Given the description of an element on the screen output the (x, y) to click on. 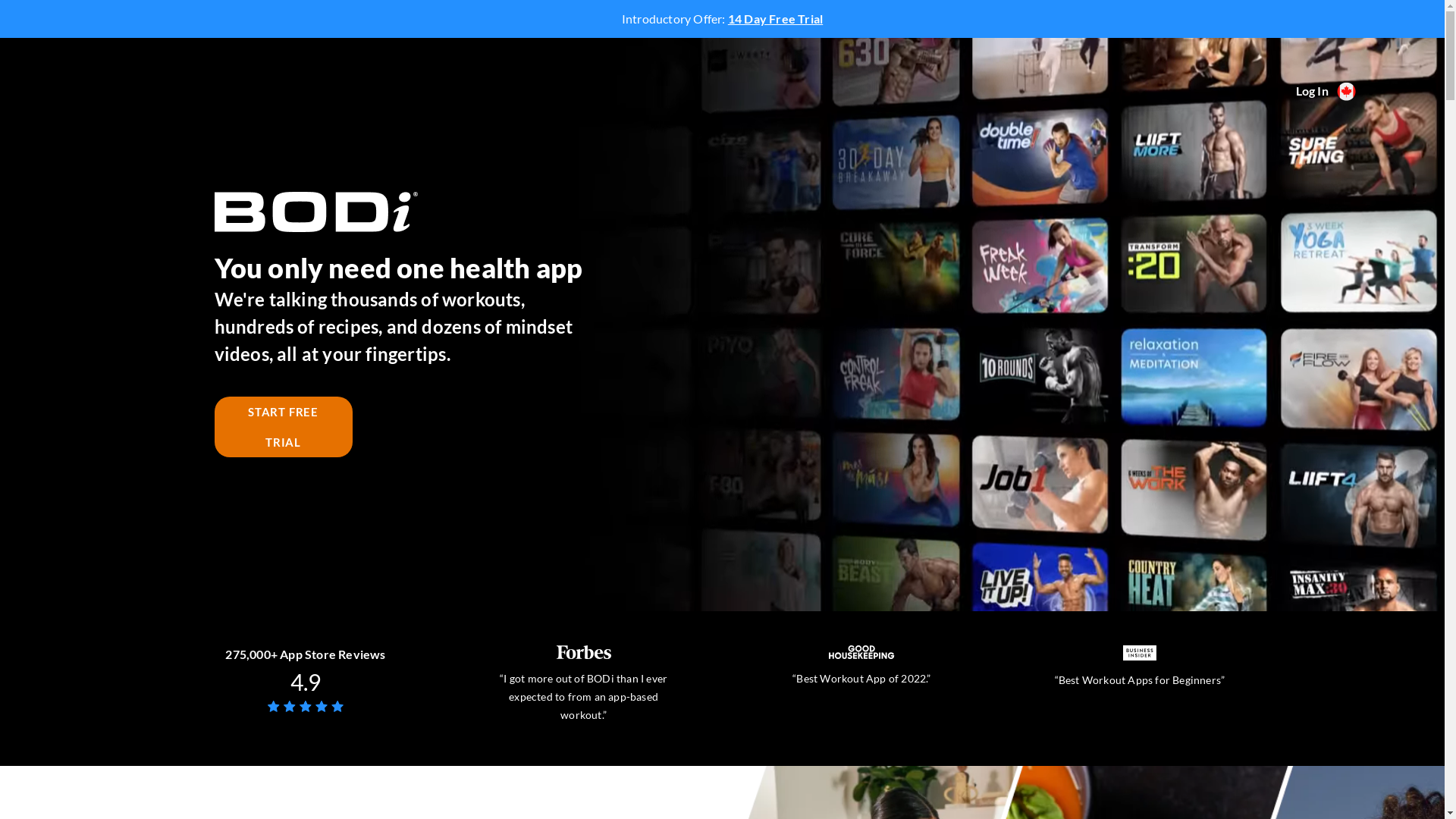
Introductory Offer: 14 Day Free Trial Element type: text (722, 18)
Log In Element type: text (1311, 90)
START FREE TRIAL Element type: text (282, 426)
